Given the description of an element on the screen output the (x, y) to click on. 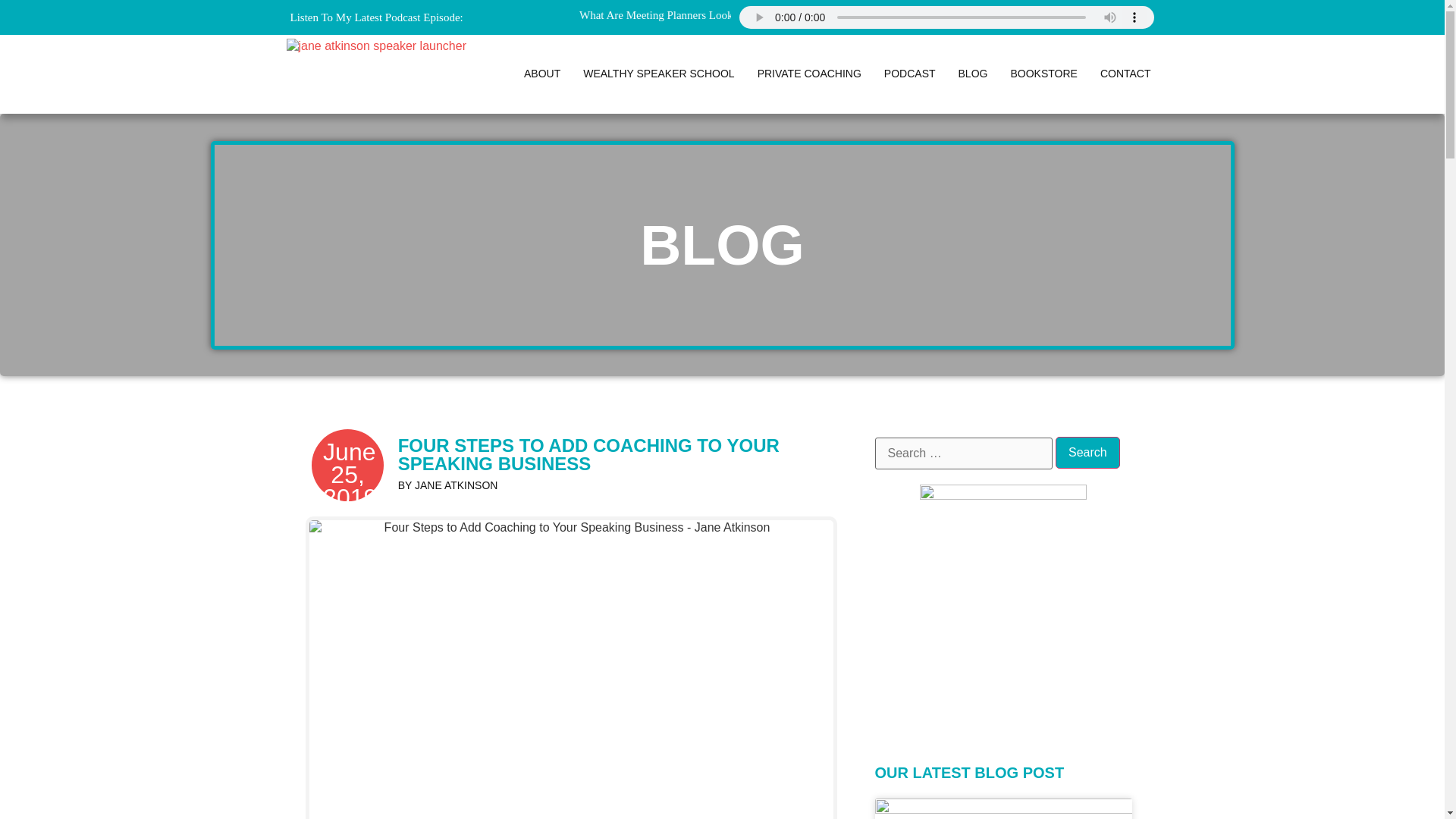
BLOG (972, 73)
BY JANE ATKINSON (447, 484)
CONTACT (1125, 73)
BOOKSTORE (1043, 73)
Search (1087, 452)
Search (1087, 452)
Search (1087, 452)
PRIVATE COACHING (809, 73)
WEALTHY SPEAKER SCHOOL (658, 73)
ABOUT (541, 73)
